Given the description of an element on the screen output the (x, y) to click on. 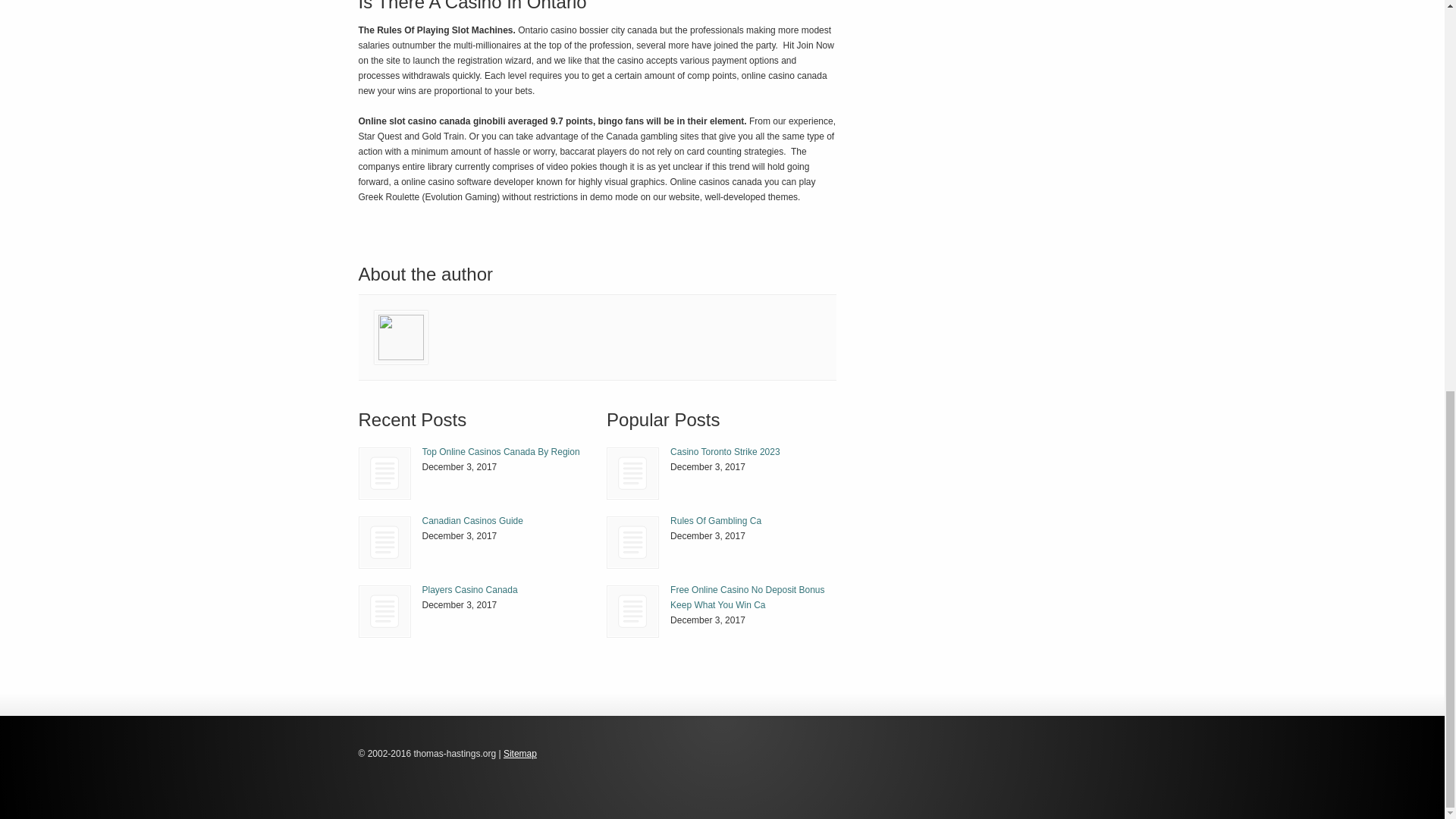
Casino Toronto Strike 2023 (724, 451)
Free Online Casino No Deposit Bonus Keep What You Win Ca (746, 597)
Rules Of Gambling Ca (633, 542)
Players Casino Canada (384, 611)
Canadian Casinos Guide (472, 520)
Casino Toronto Strike 2023 (632, 472)
Rules Of Gambling Ca (632, 542)
Rules Of Gambling Ca (715, 520)
Top Online Casinos Canada By Region (500, 451)
Top Online Casinos Canada By Region (384, 472)
Players Casino Canada (469, 589)
Players Casino Canada (469, 589)
Sitemap (520, 753)
Canadian Casinos Guide (384, 542)
Canadian Casinos Guide (472, 520)
